Given the description of an element on the screen output the (x, y) to click on. 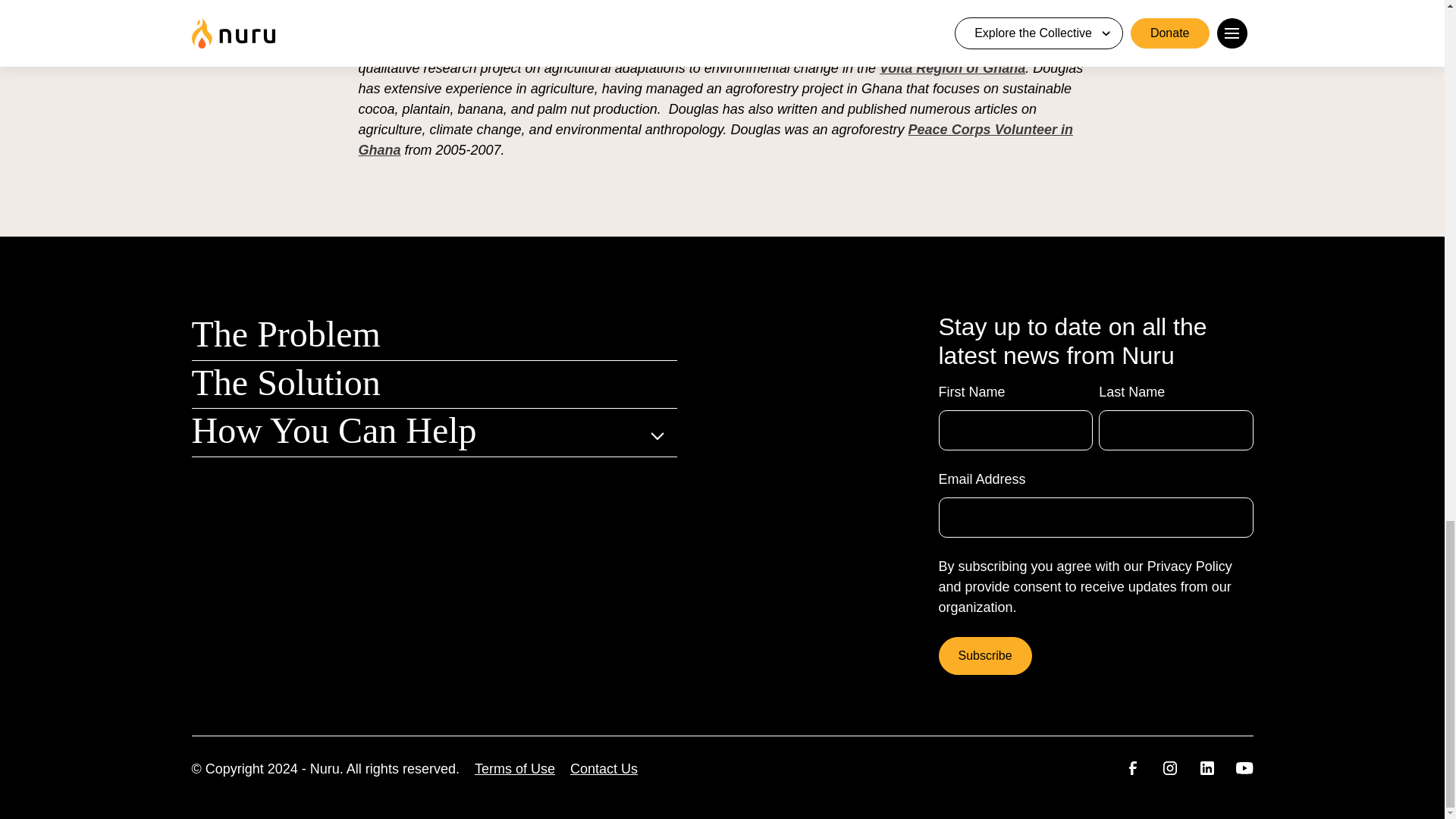
San Diego State University (608, 47)
Peace Corps Volunteer in Ghana (714, 140)
How You Can Help (333, 430)
Volta Region of Ghana (952, 68)
The Problem (285, 333)
Subscribe (985, 655)
The Solution (285, 382)
